Given the description of an element on the screen output the (x, y) to click on. 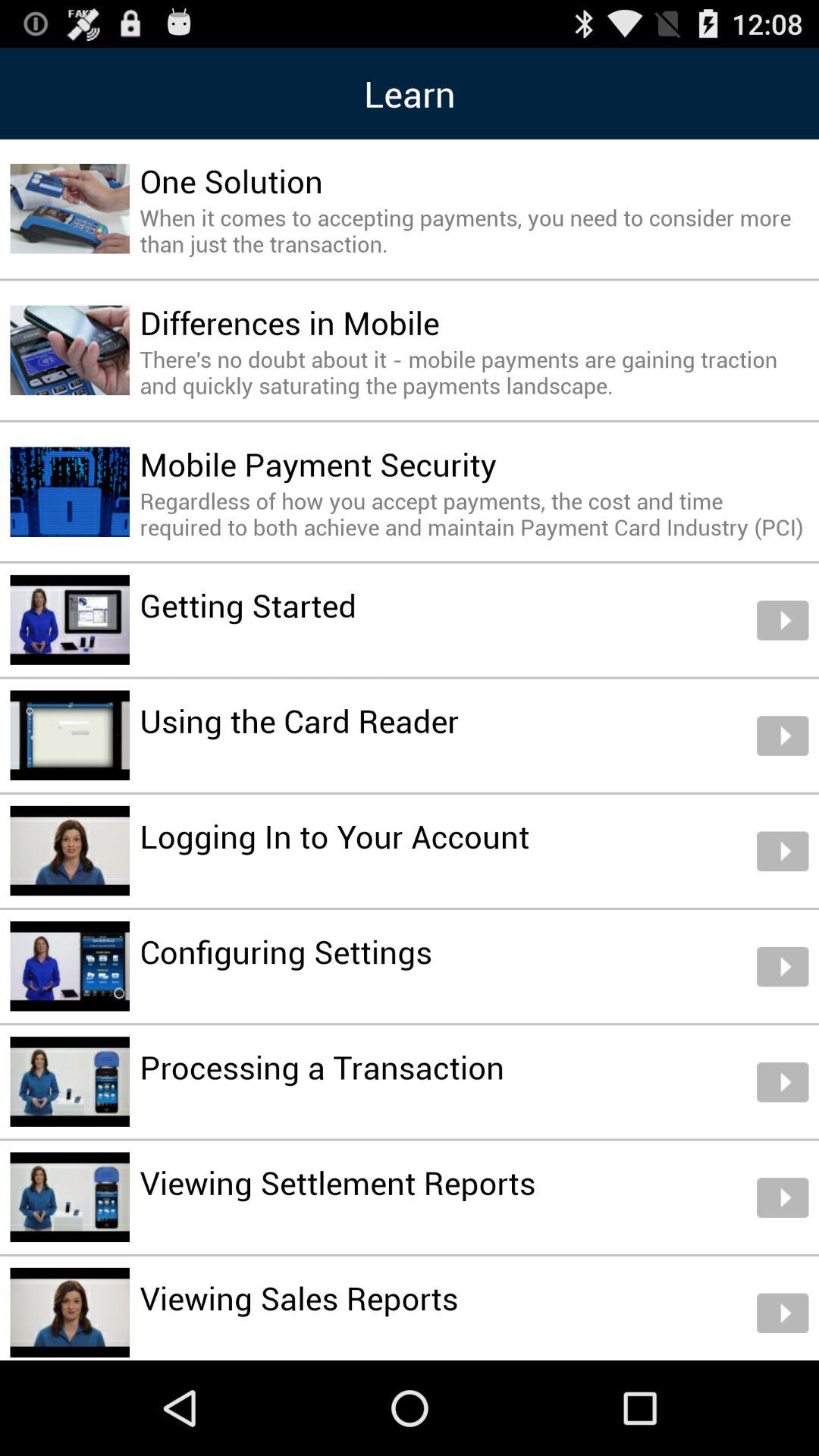
open the icon below learn icon (231, 180)
